Given the description of an element on the screen output the (x, y) to click on. 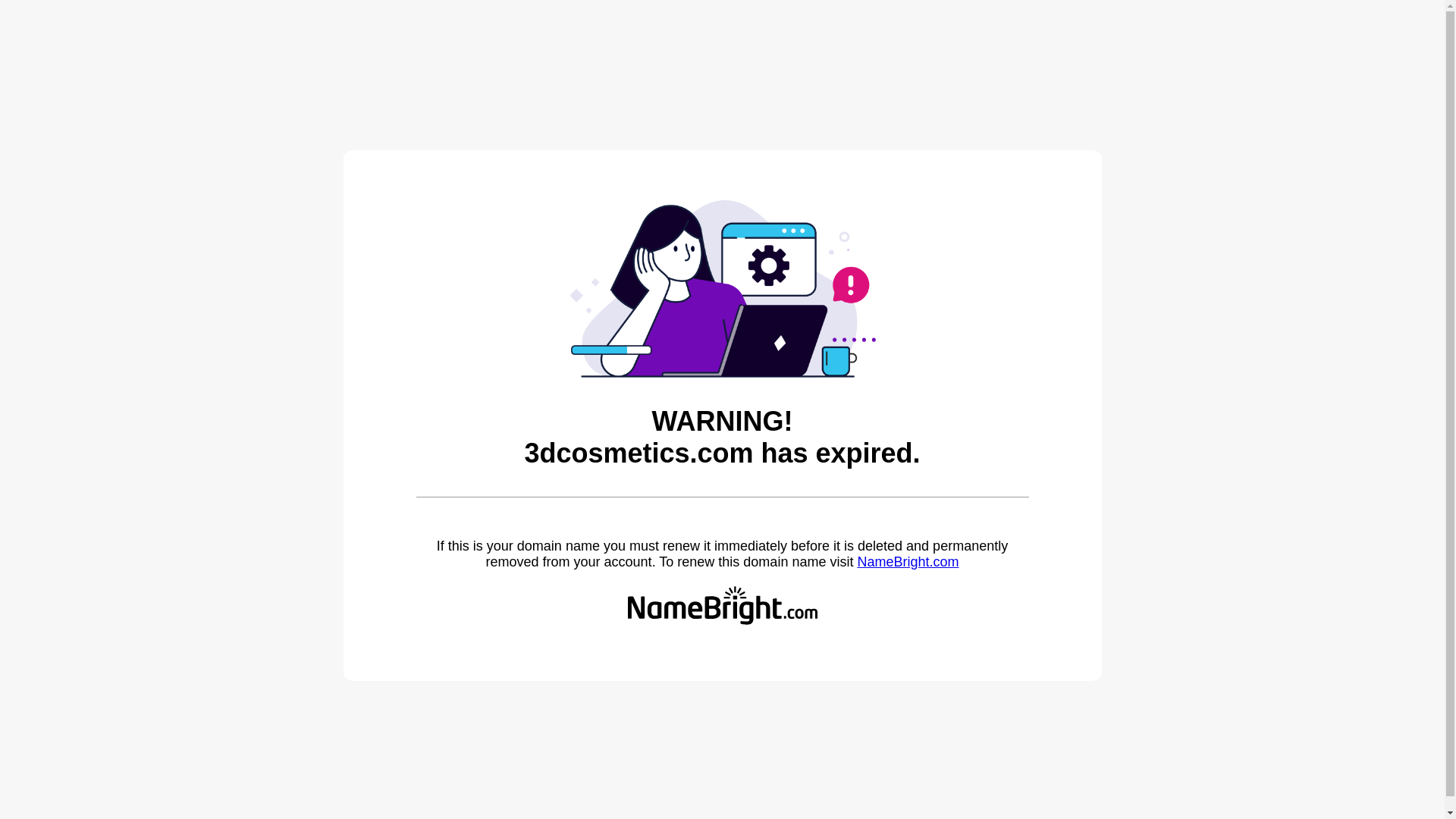
NameBright.com Element type: text (907, 561)
